Given the description of an element on the screen output the (x, y) to click on. 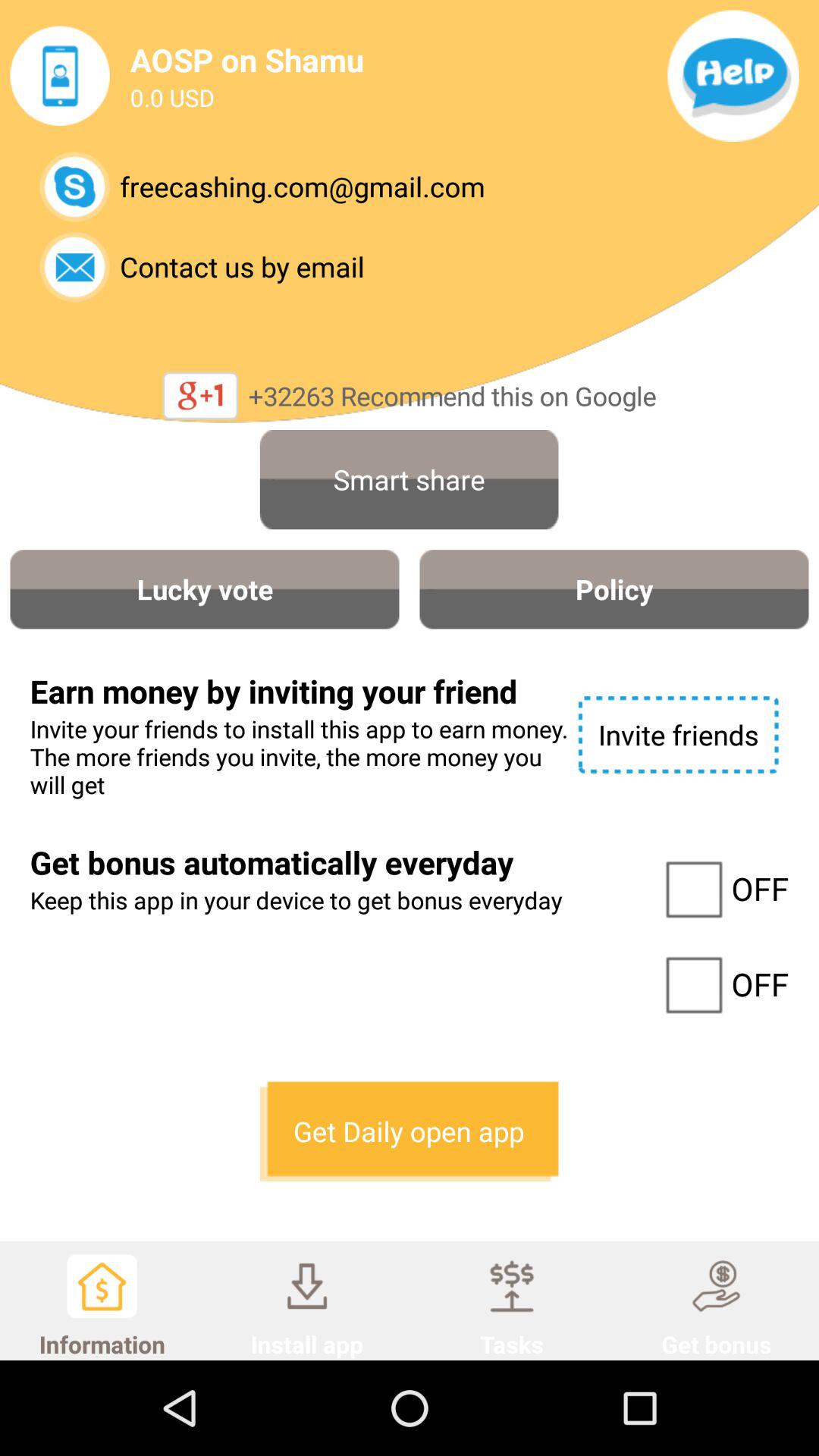
contact via email (74, 267)
